Given the description of an element on the screen output the (x, y) to click on. 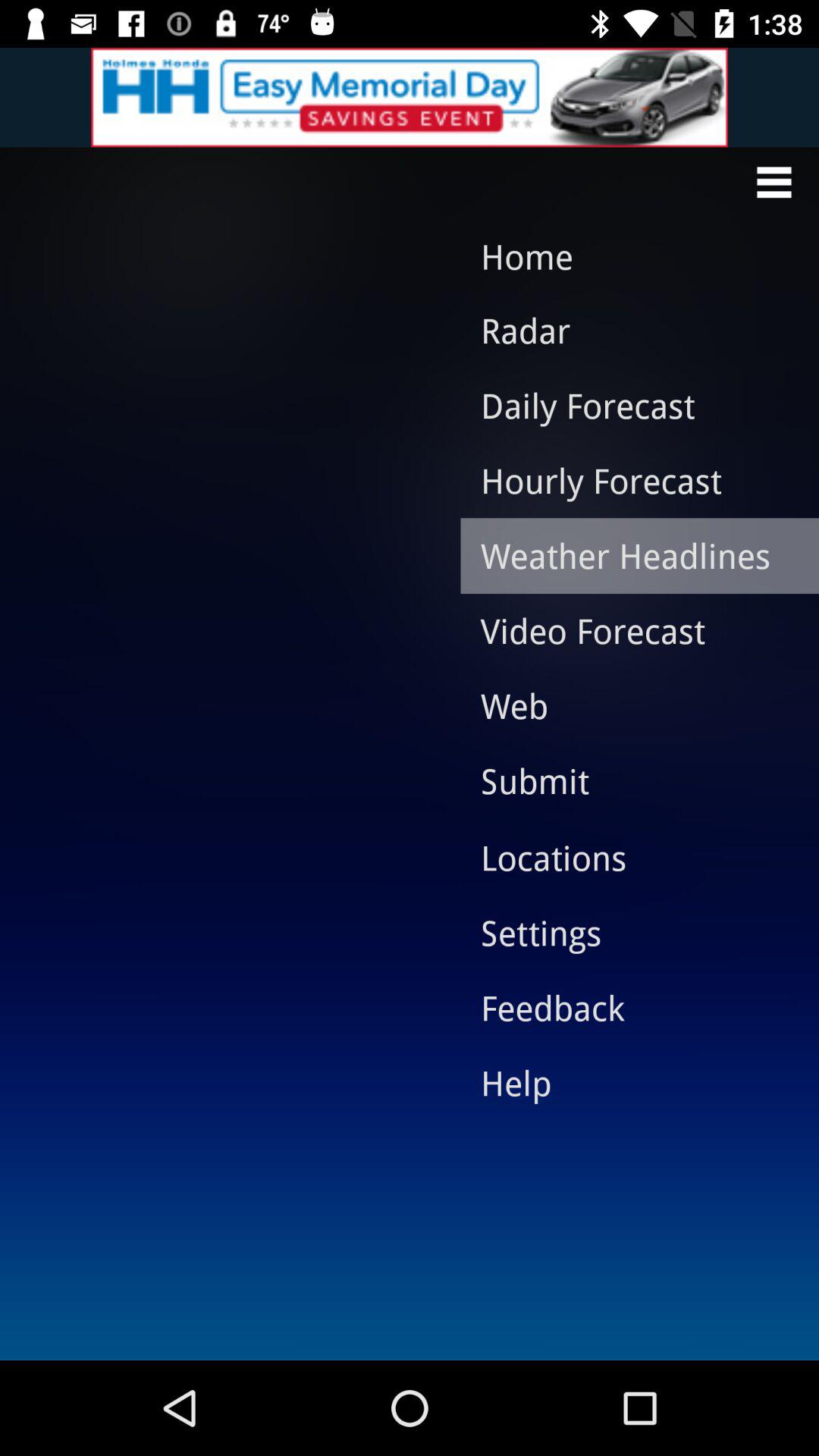
launch the icon above the hourly forecast icon (627, 405)
